Given the description of an element on the screen output the (x, y) to click on. 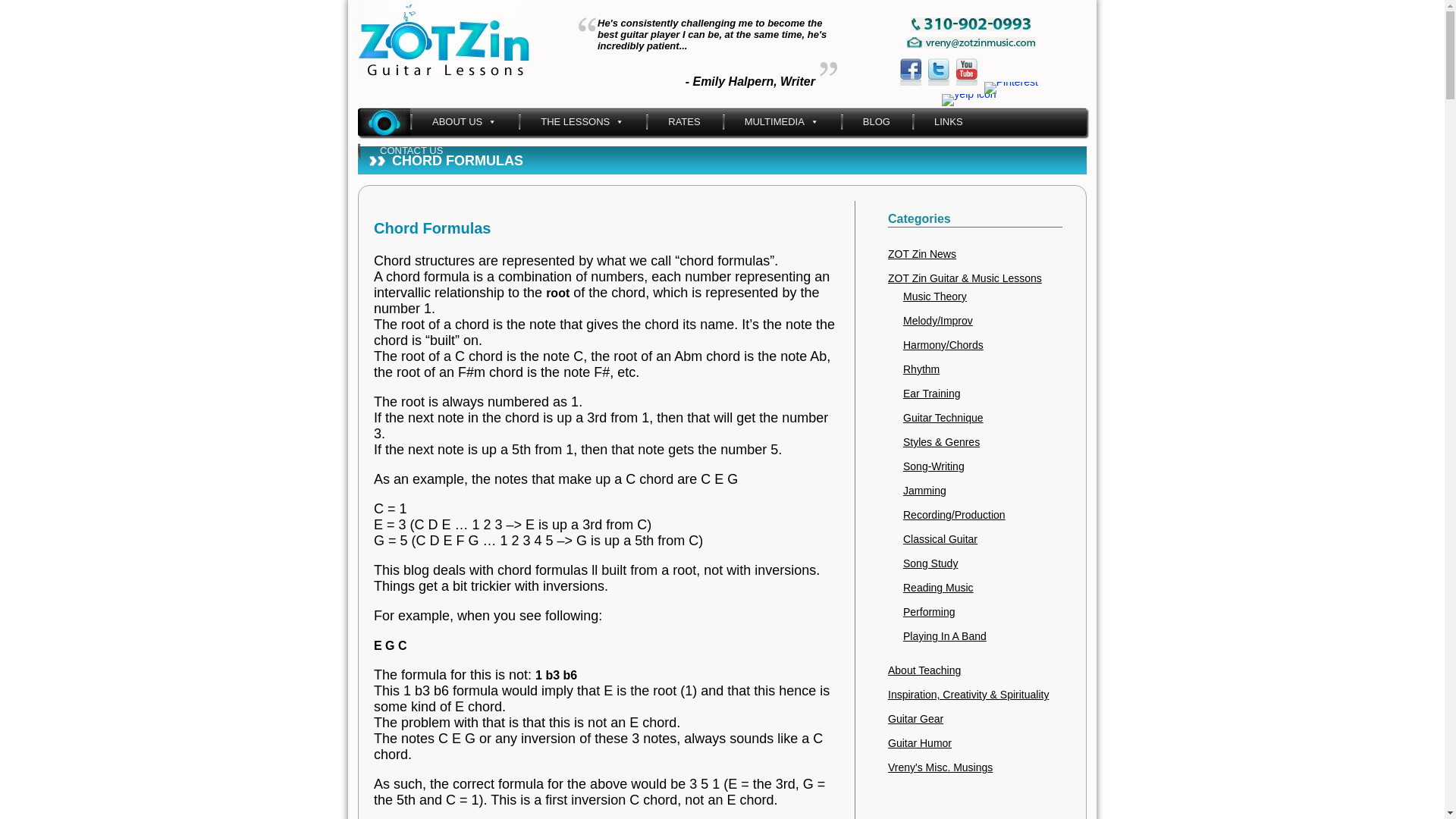
HOME (384, 121)
ABOUT US (464, 121)
THE LESSONS (581, 121)
